Given the description of an element on the screen output the (x, y) to click on. 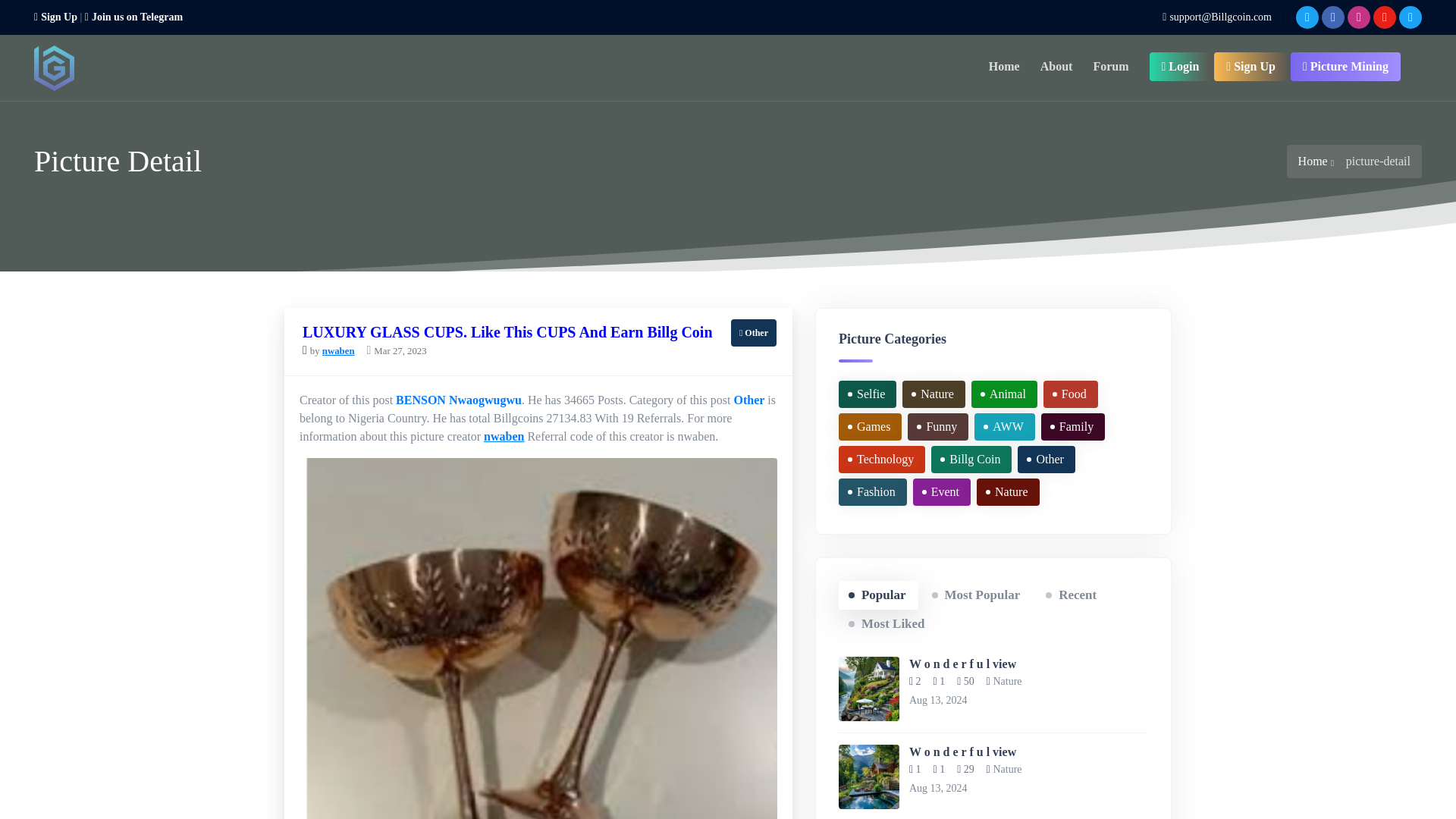
Other (748, 399)
Selfie (867, 393)
Nature (933, 393)
Games (869, 426)
Login (1180, 66)
Join us on Telegram (133, 16)
BENSON Nwaogwugwu (458, 399)
by nwaben (328, 349)
AWW (1003, 426)
Family (1073, 426)
